Given the description of an element on the screen output the (x, y) to click on. 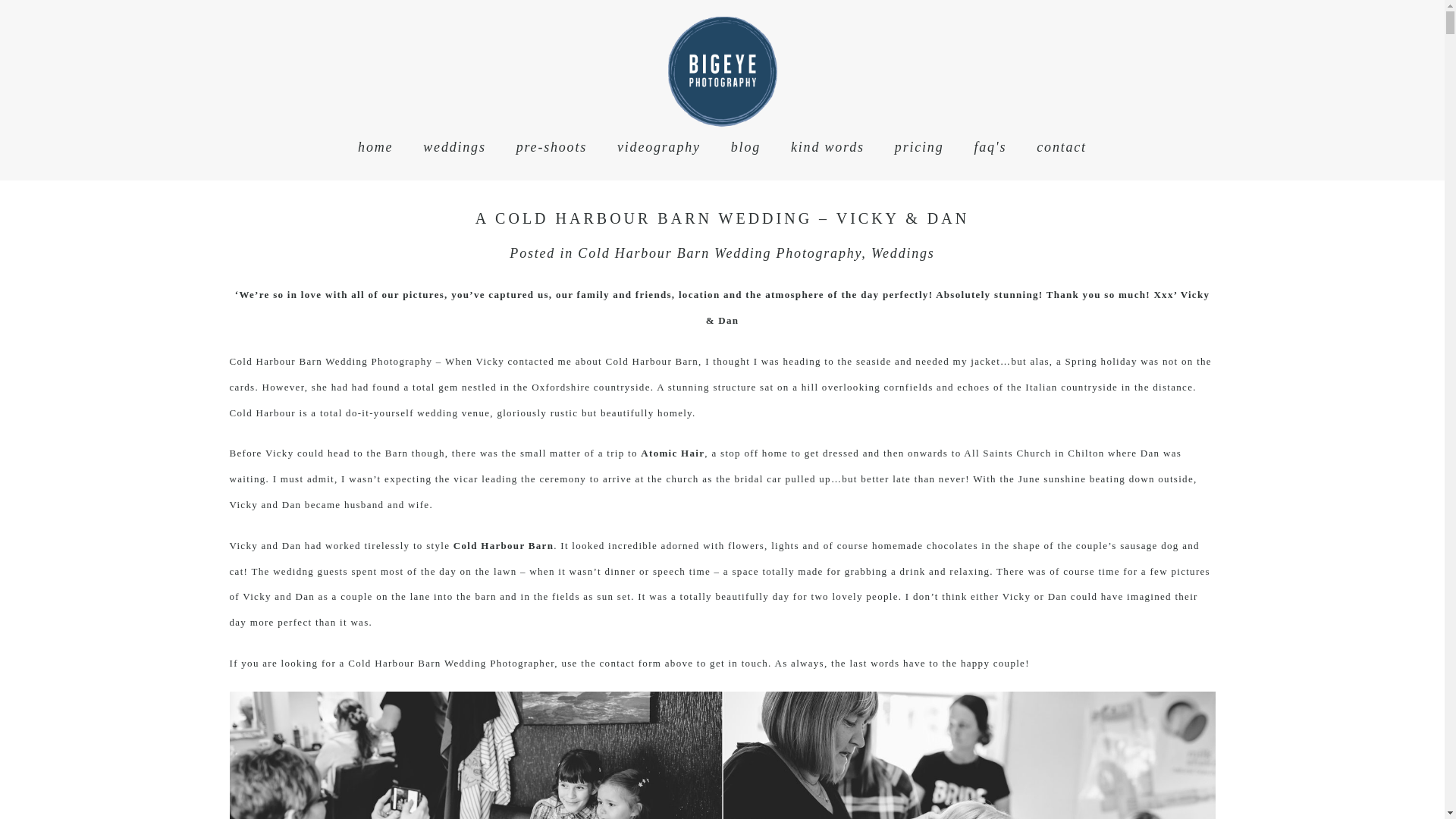
home (375, 146)
Atomic Hair (672, 452)
contact (1061, 146)
Cold Harbour Barn (502, 545)
faq's (990, 146)
pre-shoots (551, 146)
pricing (919, 146)
blog (745, 146)
weddings (453, 146)
videography (658, 146)
kind words (827, 146)
Weddings (902, 253)
Cold Harbour Barn Wedding Photography (719, 253)
